Given the description of an element on the screen output the (x, y) to click on. 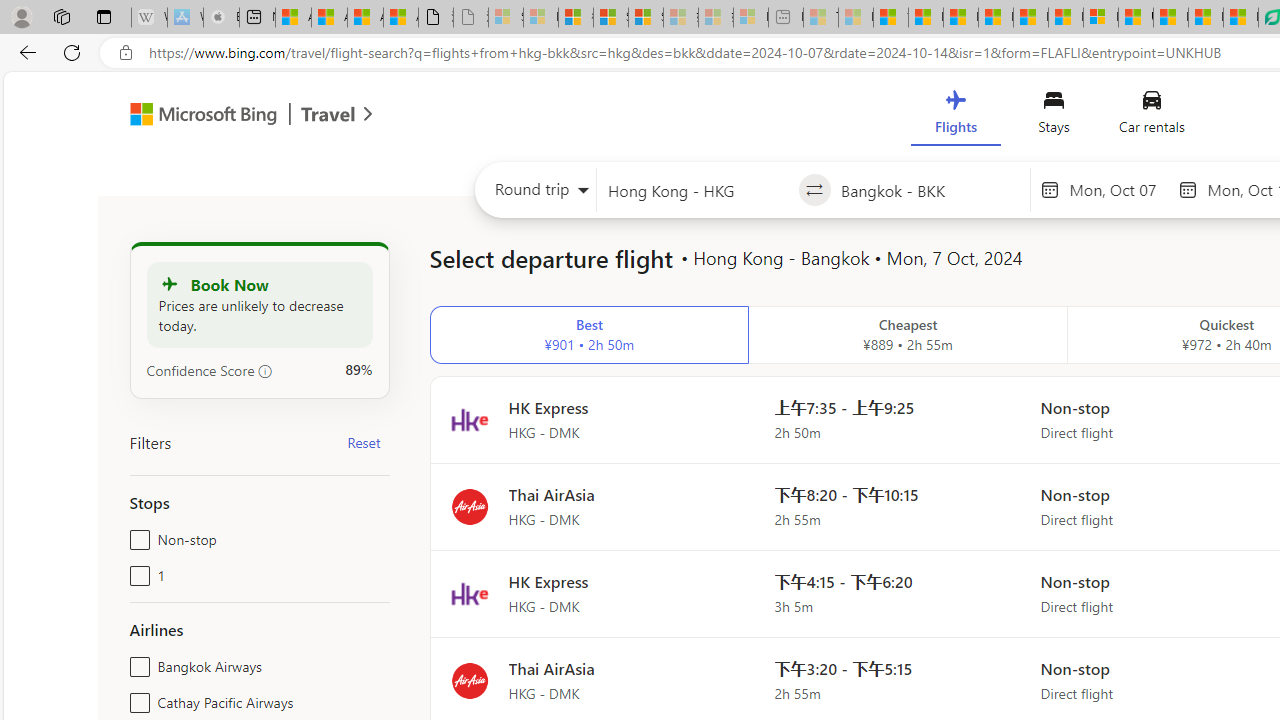
Flight logo (469, 680)
Going to? (930, 190)
Class: msft-travel-logo (328, 114)
Swap source and destination (813, 189)
Microsoft Bing Travel (229, 116)
Wikipedia - Sleeping (149, 17)
Buy iPad - Apple - Sleeping (221, 17)
